Given the description of an element on the screen output the (x, y) to click on. 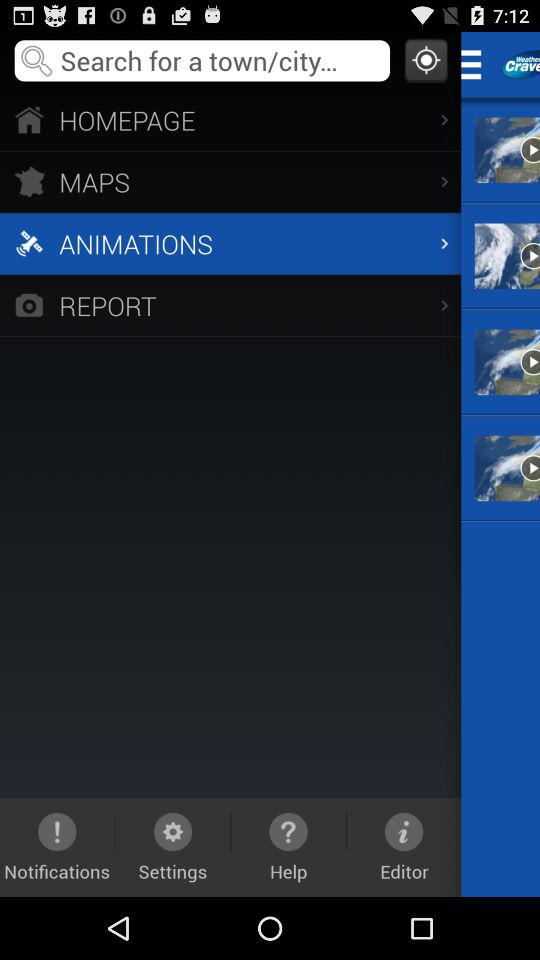
turn on the icon next to homepage app (477, 63)
